Given the description of an element on the screen output the (x, y) to click on. 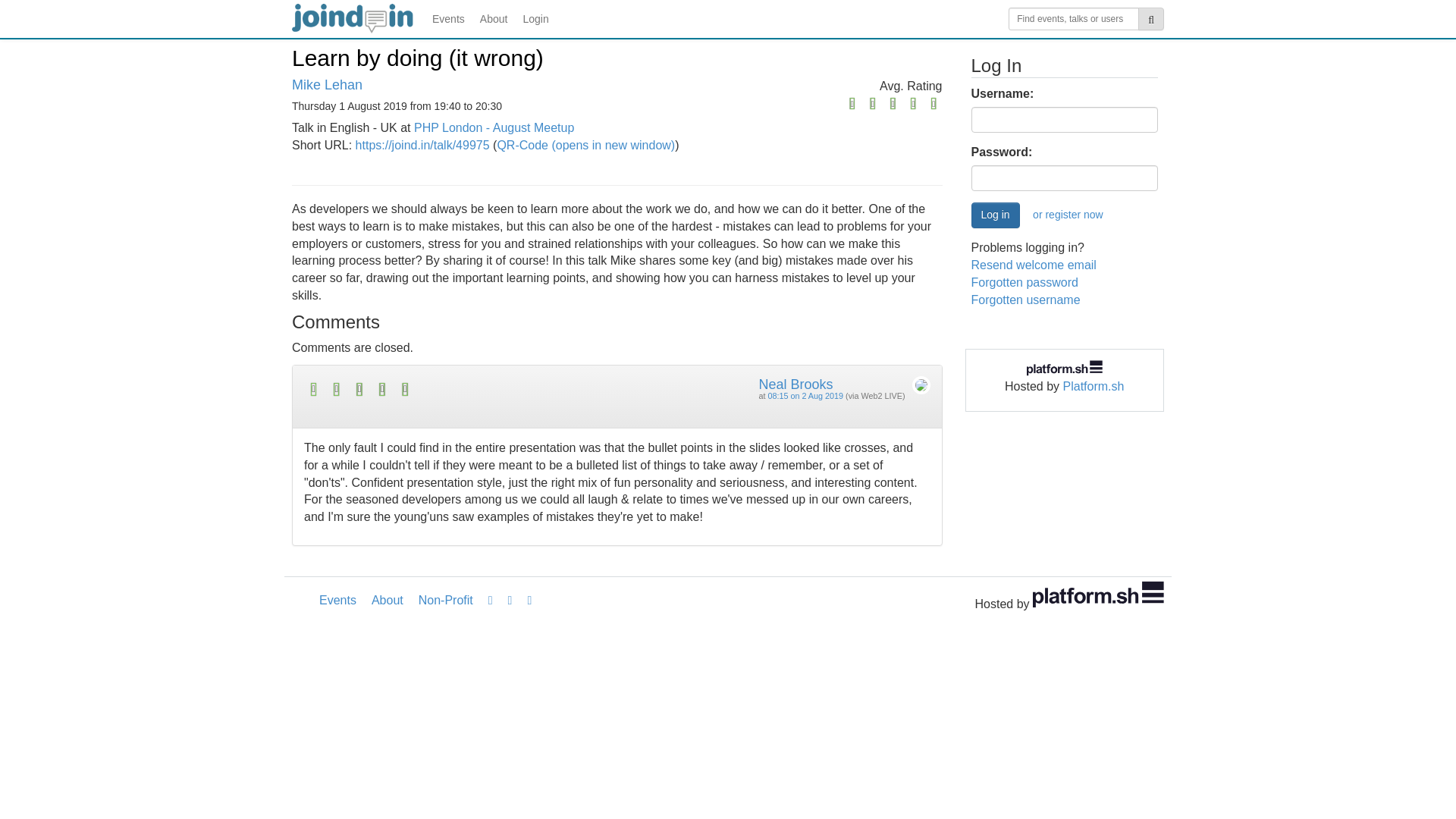
08:15 on 2 Aug 2019 (805, 395)
Login (535, 18)
Events (448, 18)
Joindin Blog (490, 600)
Log in (995, 215)
PHP London - August Meetup (493, 127)
About (493, 18)
Neal Brooks (795, 384)
About (387, 600)
Log in (995, 215)
Events (337, 600)
Mike Lehan (327, 84)
Platform.sh (1093, 386)
Forgotten password (1024, 282)
Contribute on Github (529, 600)
